Given the description of an element on the screen output the (x, y) to click on. 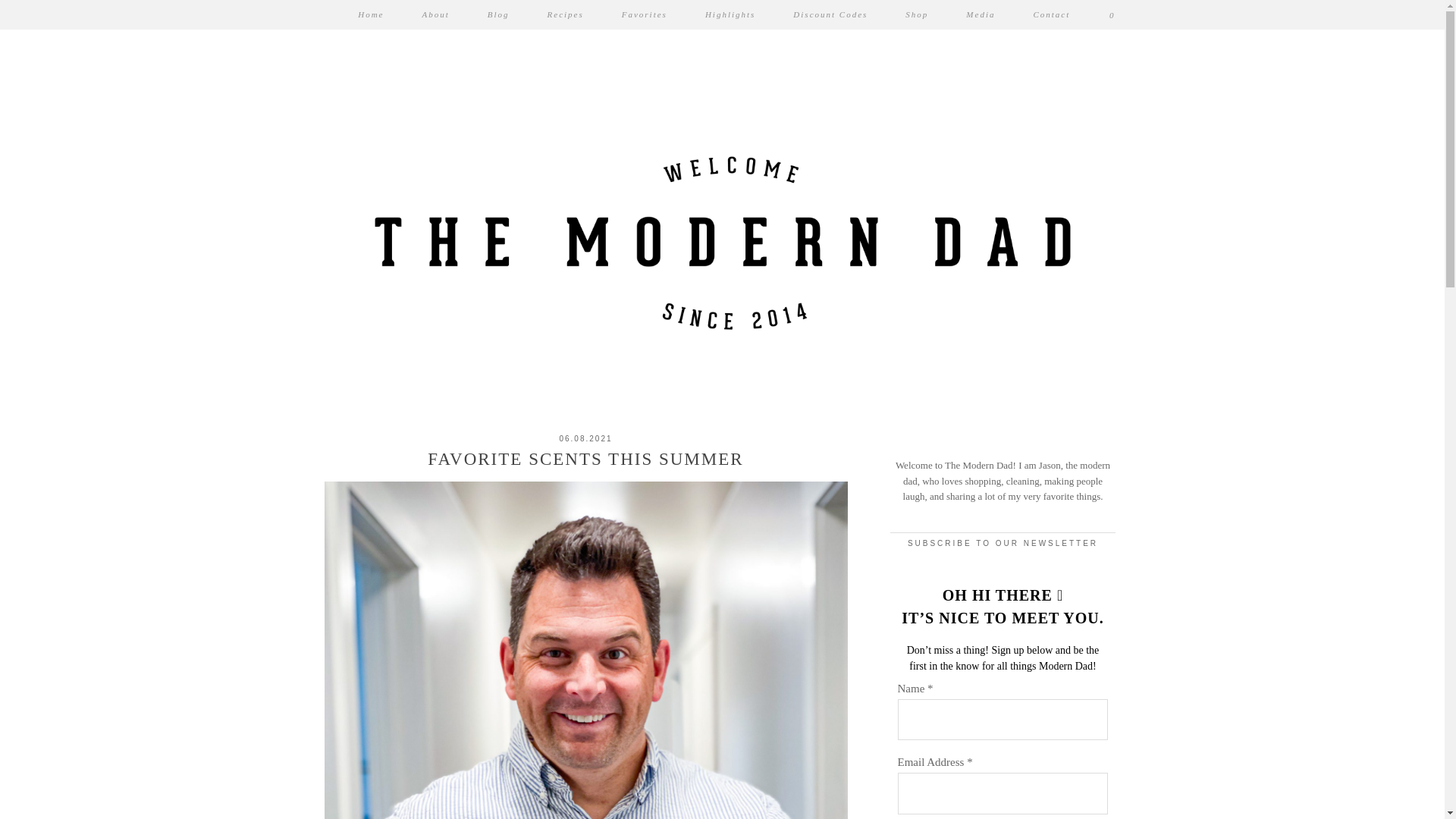
Contact (1051, 14)
Favorites (643, 14)
Email Address (1003, 793)
Discount Codes (830, 14)
Highlights (729, 14)
Blog (498, 14)
About (435, 14)
Media (980, 14)
Shop (916, 14)
0 (1112, 14)
Recipes (565, 14)
Home (371, 14)
Shopping cart (1112, 14)
Name (1003, 720)
